Given the description of an element on the screen output the (x, y) to click on. 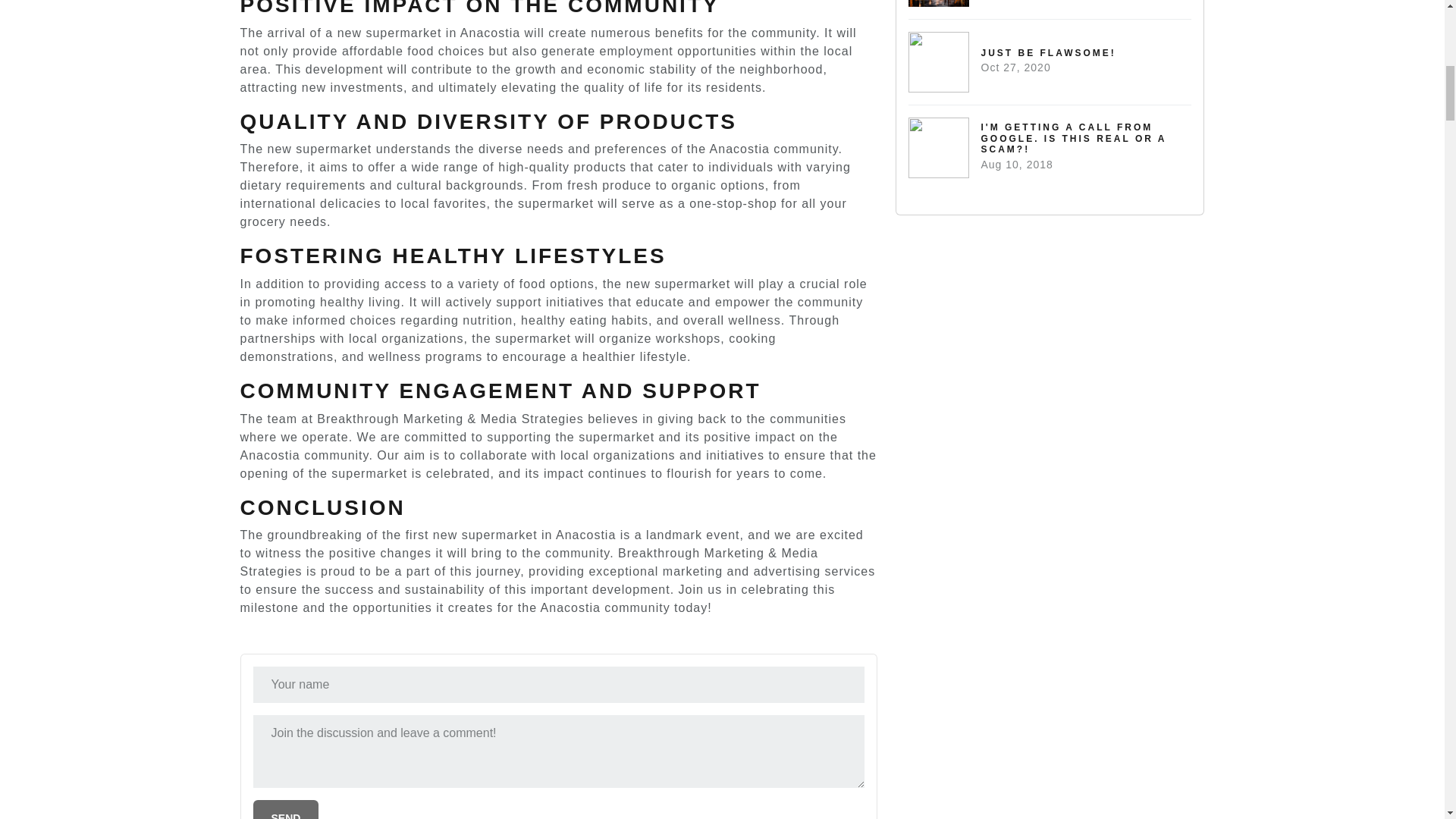
Send (285, 809)
Send (285, 809)
